Given the description of an element on the screen output the (x, y) to click on. 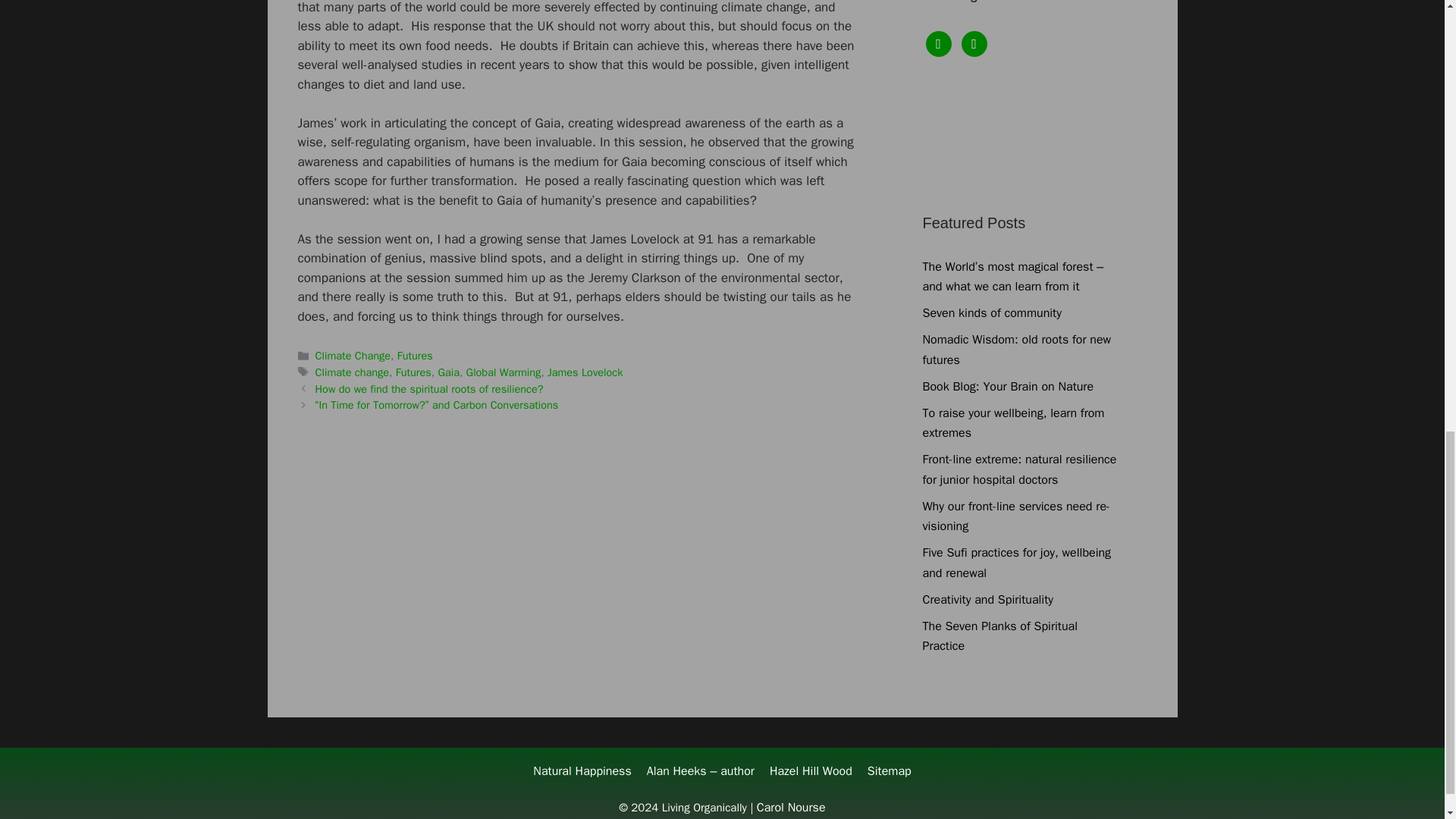
Facebook (937, 43)
Nomadic Wisdom: old roots for new futures (1015, 349)
facebook (937, 43)
Gaia (449, 372)
How do we find the spiritual roots of resilience? (429, 388)
Climate change (351, 372)
Climate Change (352, 355)
James Lovelock (585, 372)
Global Warming (503, 372)
twitter (973, 43)
Twitter (973, 43)
Futures (413, 372)
Seven kinds of community (991, 313)
Futures (414, 355)
